Given the description of an element on the screen output the (x, y) to click on. 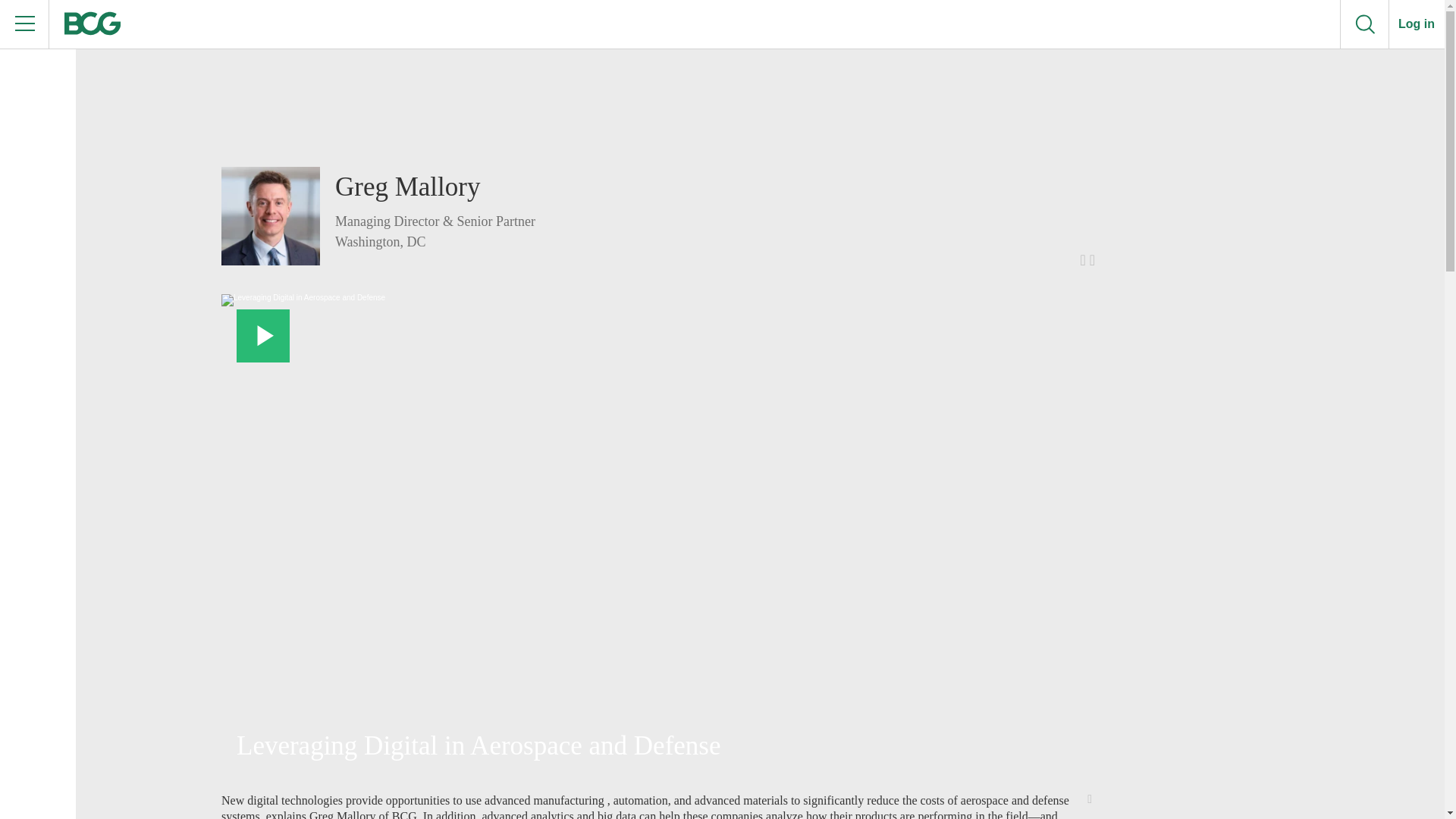
Play Video (262, 335)
Washington, DC (434, 241)
Log in (1416, 24)
Play Video (262, 335)
